Given the description of an element on the screen output the (x, y) to click on. 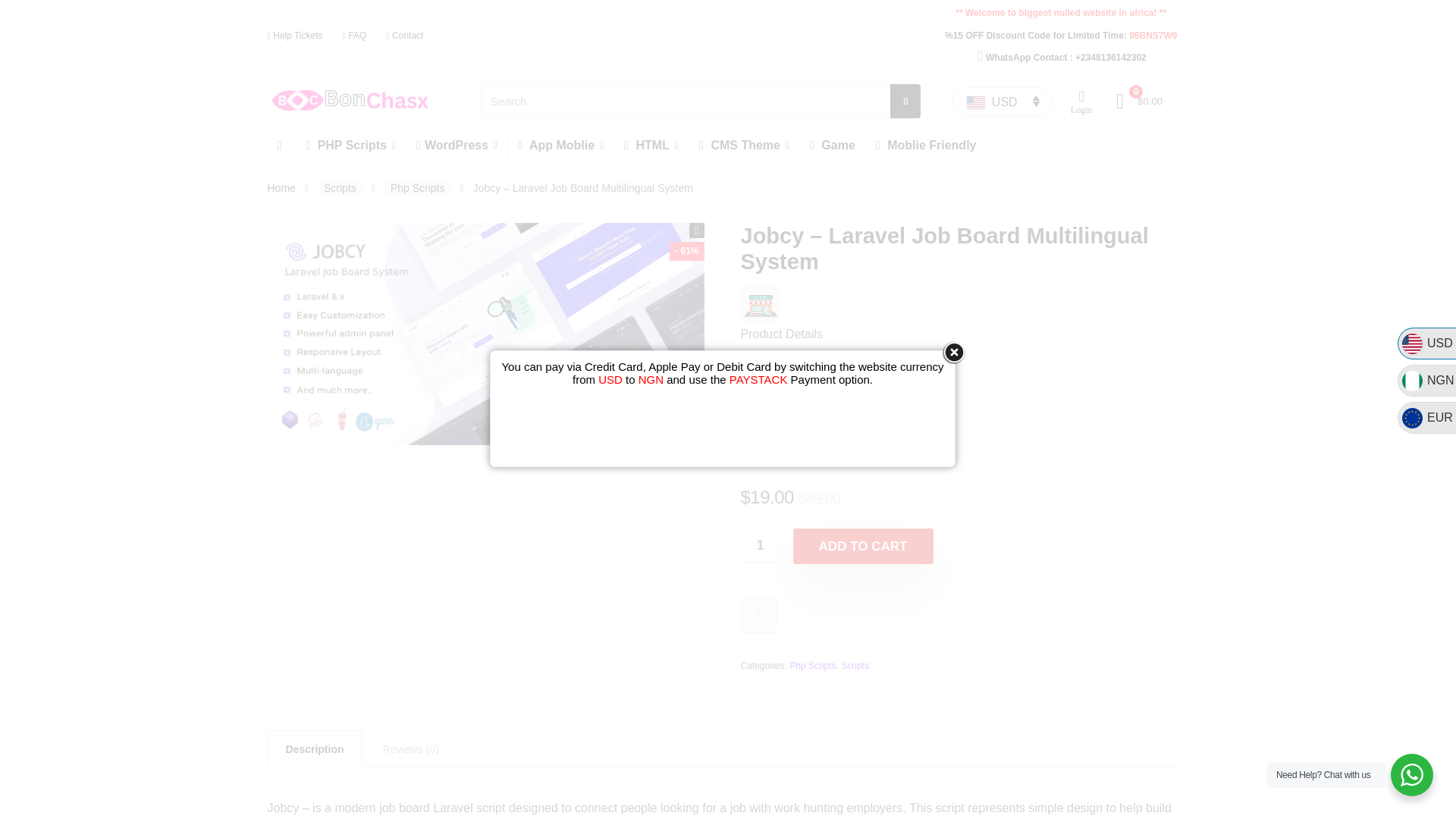
Contact (404, 35)
CMS Theme (743, 145)
PHP Scripts (350, 145)
HTML (651, 145)
App Moblie (560, 145)
FAQ (354, 35)
Moblie Friendly (926, 145)
Jobcy-Laravel-Job-Board-Multilingual-System-.png (484, 333)
USD (1002, 101)
Help Tickets (293, 35)
